Given the description of an element on the screen output the (x, y) to click on. 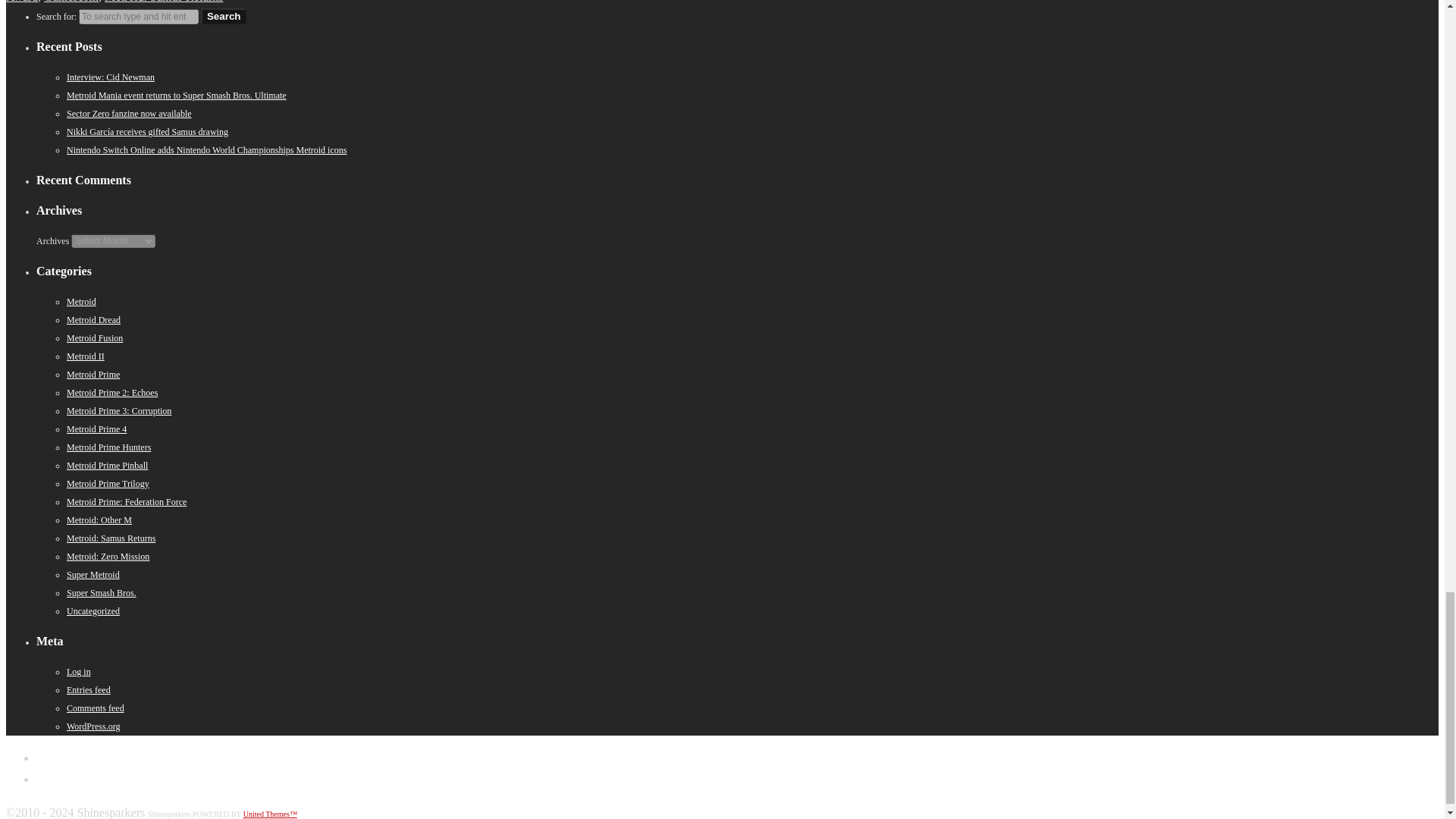
Gamescom (71, 1)
Search (223, 16)
Search (223, 16)
Metroid Mania event returns to Super Smash Bros. Ultimate (176, 95)
Interview: Cid Newman (110, 77)
Sector Zero fanzine now available (129, 113)
Search (223, 16)
Search for: (138, 16)
Award (21, 1)
Metroid: Samus Returns (163, 1)
